Given the description of an element on the screen output the (x, y) to click on. 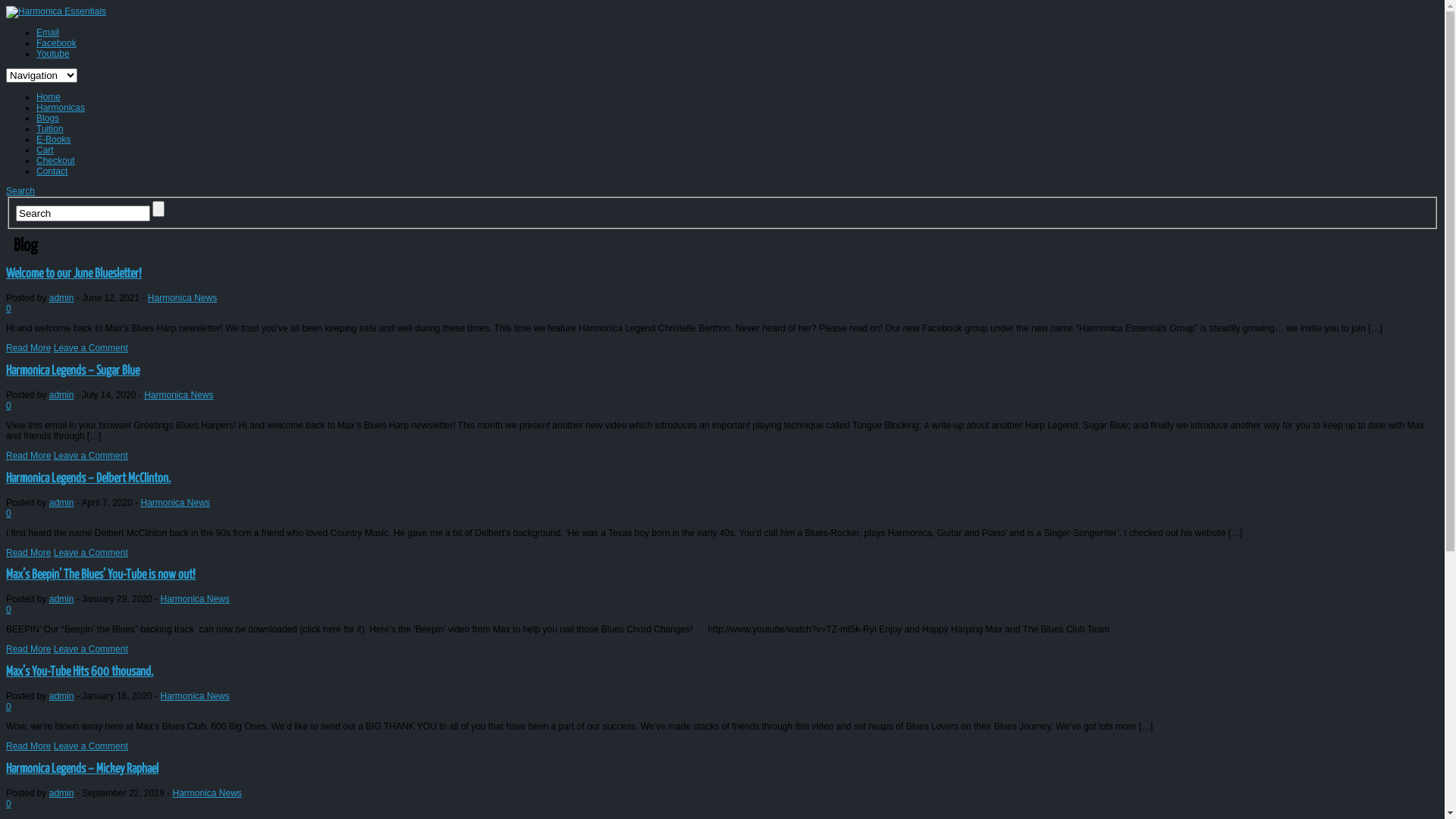
0 Element type: text (8, 706)
Leave a Comment Element type: text (90, 455)
Welcome to our June Bluesletter! Element type: text (73, 273)
0 Element type: text (8, 513)
0 Element type: text (8, 803)
Facebook Element type: text (56, 42)
0 Element type: text (8, 308)
Harmonica News Element type: text (178, 394)
Harmonica News Element type: text (206, 792)
Read More Element type: text (28, 347)
Harmonicas Element type: text (60, 107)
Blogs Element type: text (47, 117)
Read More Element type: text (28, 455)
Read More Element type: text (28, 552)
Search Element type: text (20, 190)
Harmonica News Element type: text (194, 598)
admin Element type: text (61, 792)
Read More Element type: text (28, 745)
0 Element type: text (8, 609)
E-Books Element type: text (53, 139)
Cart Element type: text (44, 149)
admin Element type: text (61, 502)
Leave a Comment Element type: text (90, 552)
Email Element type: text (47, 32)
admin Element type: text (61, 695)
Harmonica News Element type: text (174, 502)
Leave a Comment Element type: text (90, 648)
admin Element type: text (61, 598)
Leave a Comment Element type: text (90, 347)
Harmonica News Element type: text (194, 695)
Tuition Element type: text (49, 128)
admin Element type: text (61, 297)
Harmonica Essentials Element type: hover (56, 11)
Checkout Element type: text (55, 160)
Youtube Element type: text (52, 53)
Read More Element type: text (28, 648)
Leave a Comment Element type: text (90, 745)
Harmonica News Element type: text (181, 297)
admin Element type: text (61, 394)
Home Element type: text (48, 96)
0 Element type: text (8, 405)
Contact Element type: text (51, 171)
